Given the description of an element on the screen output the (x, y) to click on. 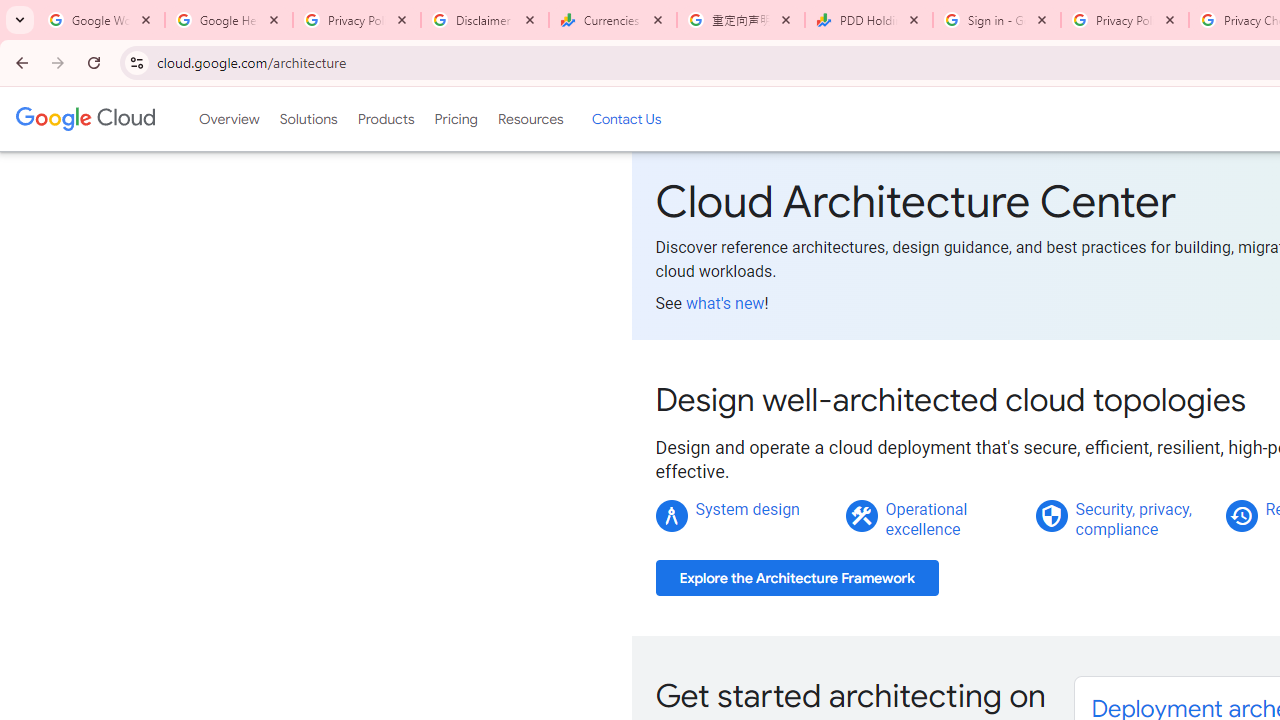
what's new (724, 303)
Security, privacy, compliance (1133, 519)
Google Workspace Admin Community (101, 20)
Operational excellence (925, 519)
Google Cloud (84, 118)
